Given the description of an element on the screen output the (x, y) to click on. 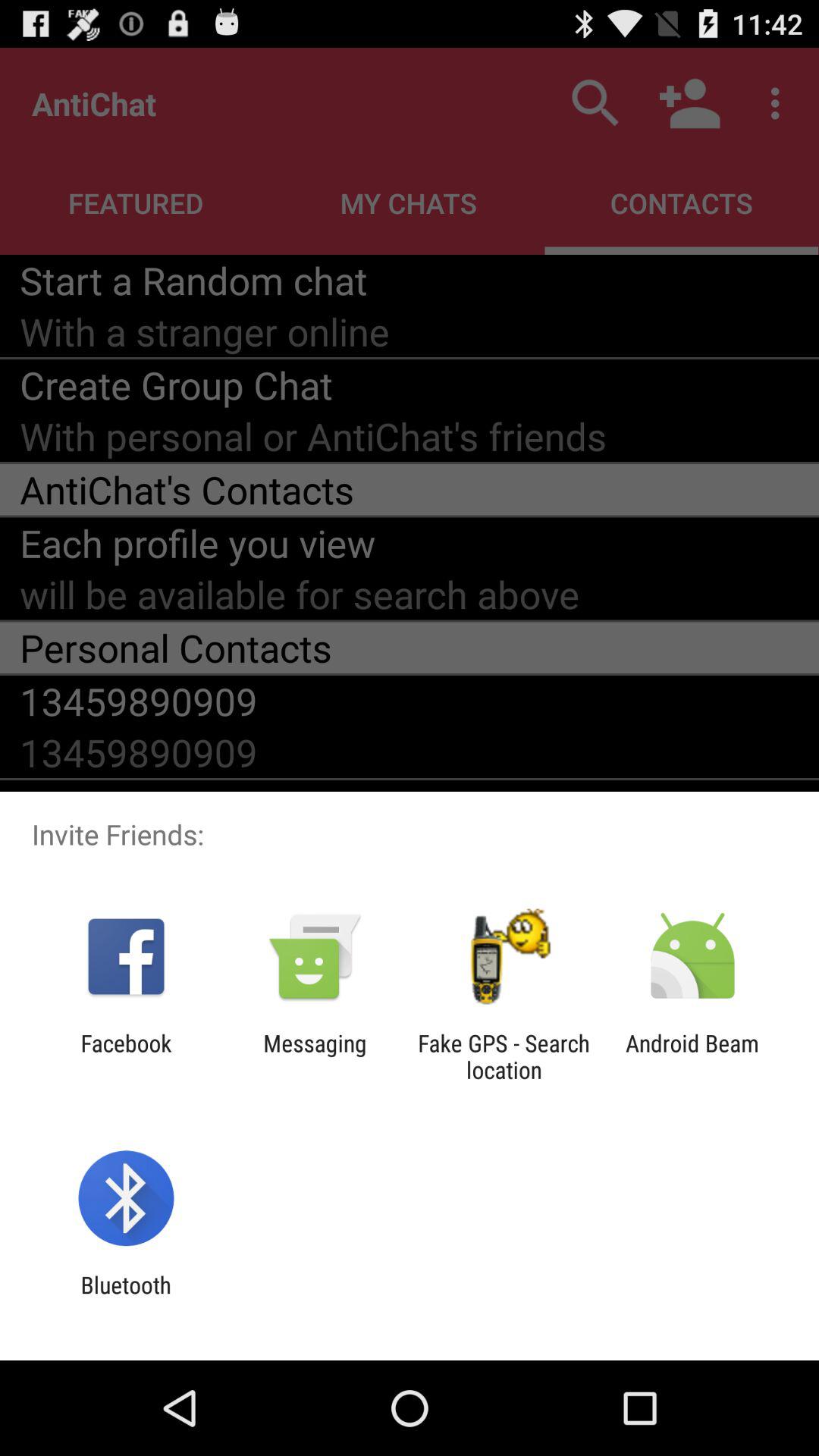
click app to the right of the fake gps search (692, 1056)
